Given the description of an element on the screen output the (x, y) to click on. 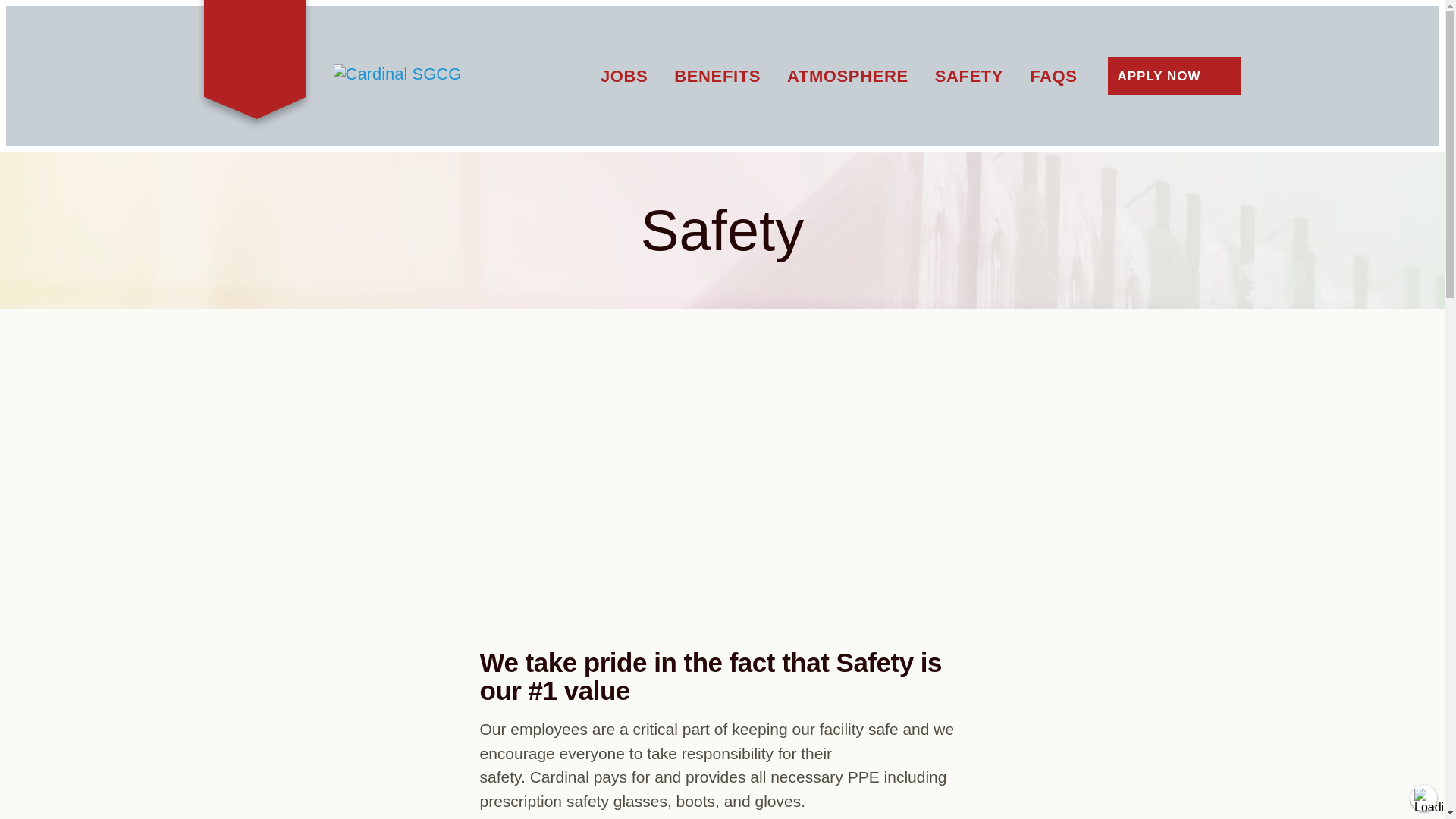
JOBS (623, 75)
ATMOSPHERE (847, 75)
YouTube video player (721, 483)
FAQS (1053, 75)
SAFETY (968, 75)
APPLY NOW (1173, 75)
BENEFITS (717, 75)
Cardinal SGCG (428, 74)
